Given the description of an element on the screen output the (x, y) to click on. 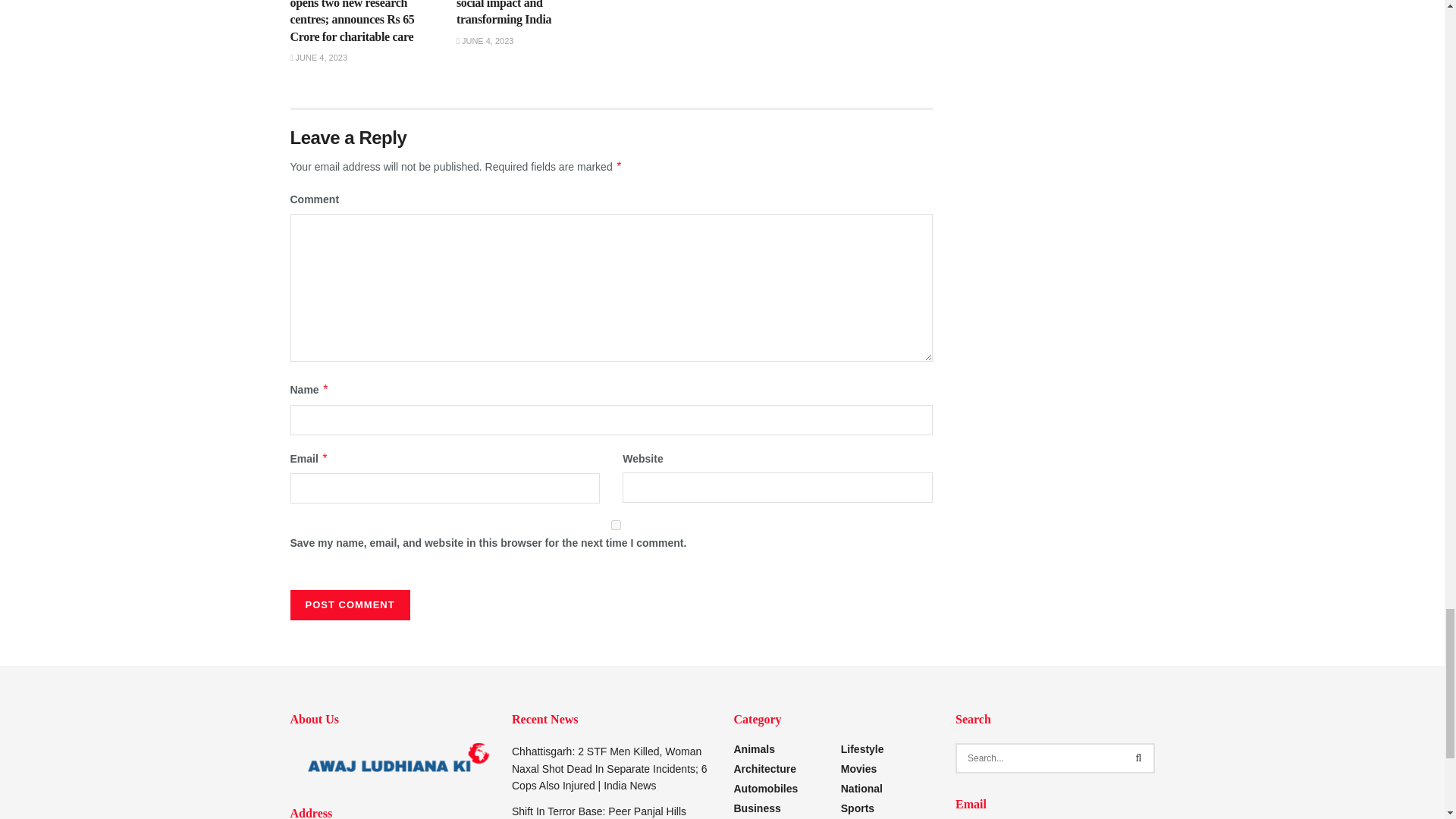
yes (616, 524)
You can add some category description here. (862, 748)
Please wait until Google reCAPTCHA is loaded. (349, 604)
Post Comment (349, 604)
You can add some category description here. (858, 808)
You can add some category description here. (861, 788)
